Given the description of an element on the screen output the (x, y) to click on. 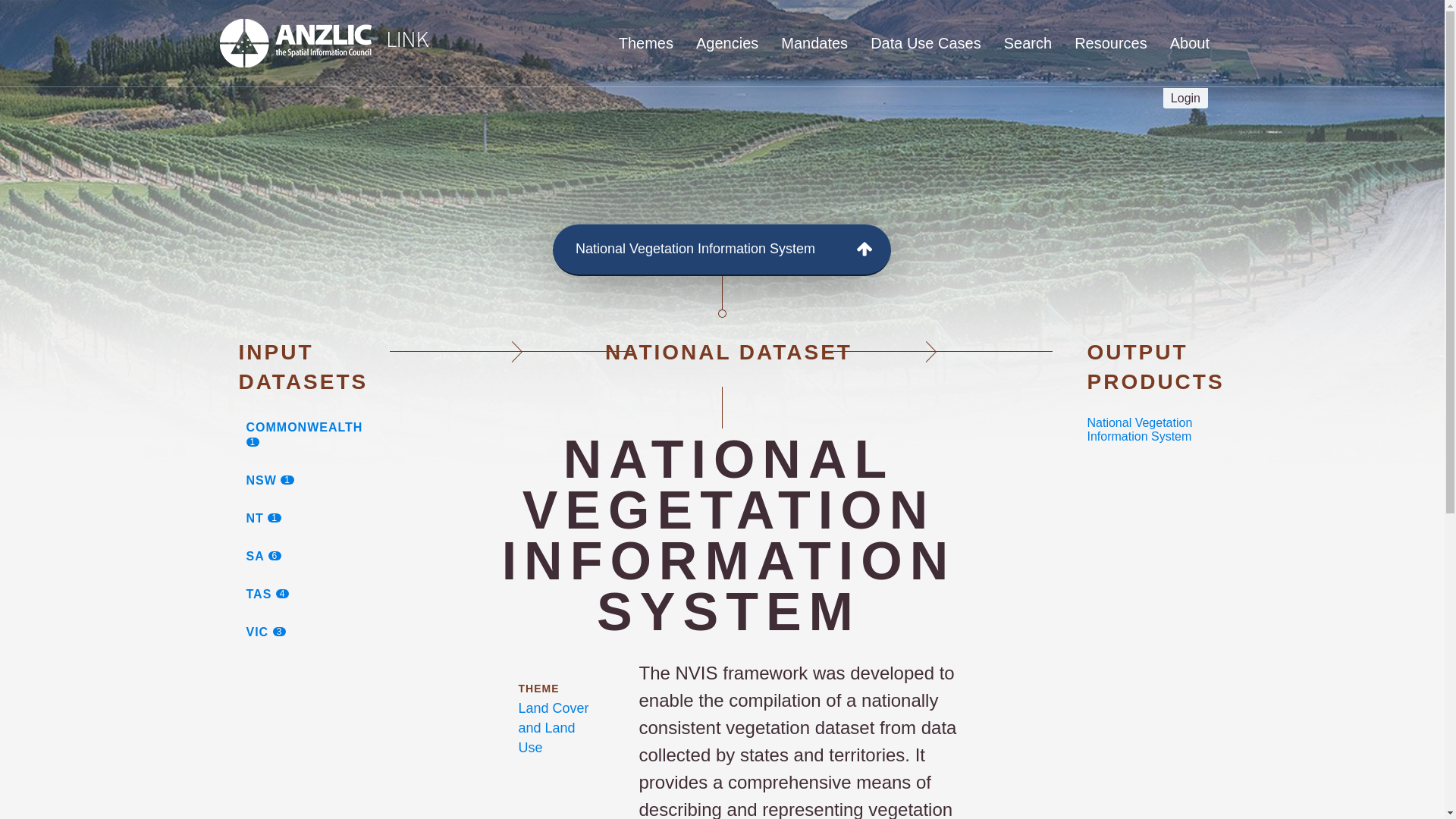
Themes (646, 42)
THE LOCATION INFORMATION KNOWLEDGE PLATFORM (316, 517)
Log in to site (316, 435)
Home (446, 128)
Land Cover and Land Use (1185, 97)
Login (323, 43)
Home (553, 728)
National Vegetation Information System (316, 556)
Agencies (316, 480)
